Given the description of an element on the screen output the (x, y) to click on. 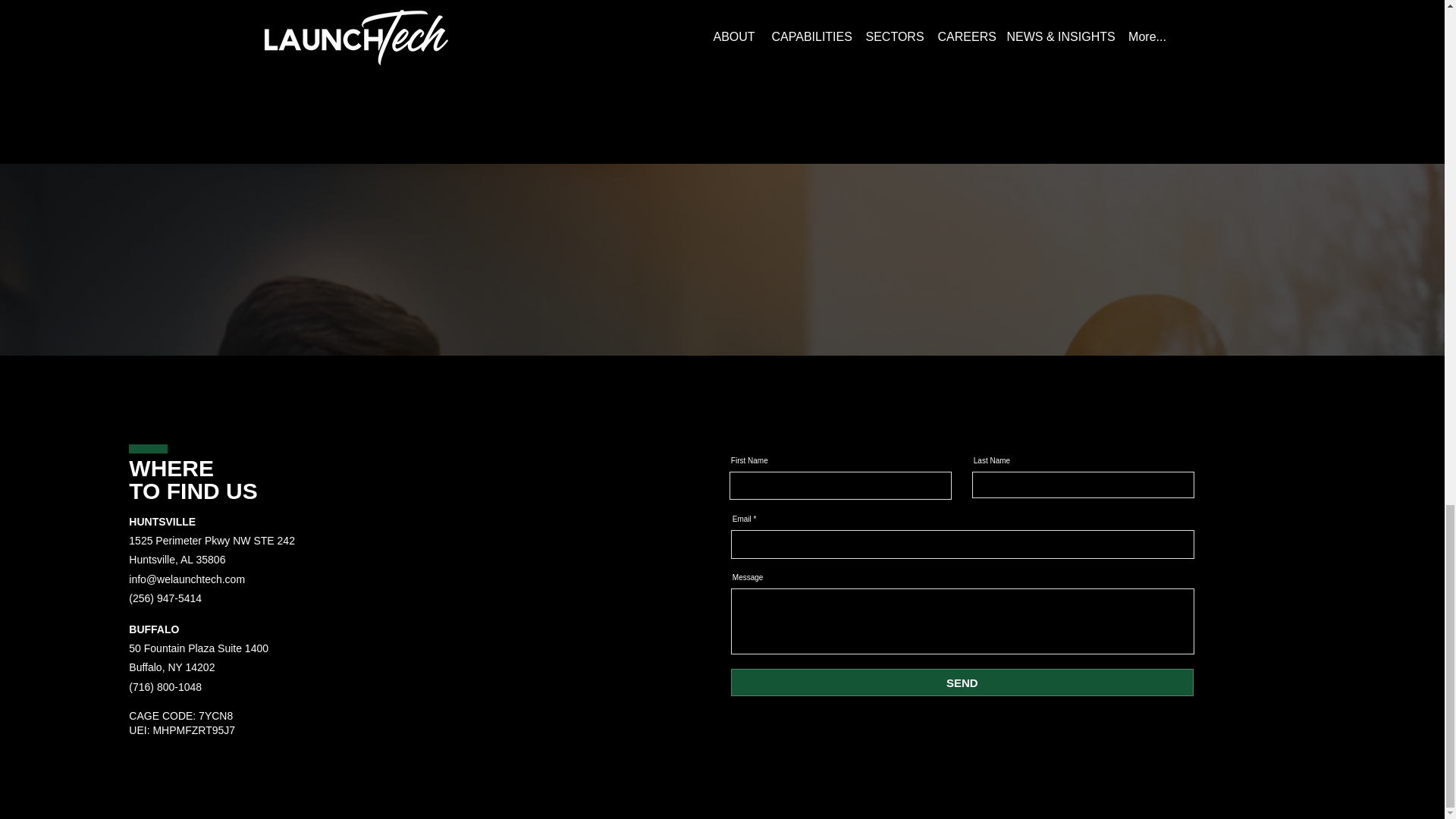
SEND (961, 682)
